Given the description of an element on the screen output the (x, y) to click on. 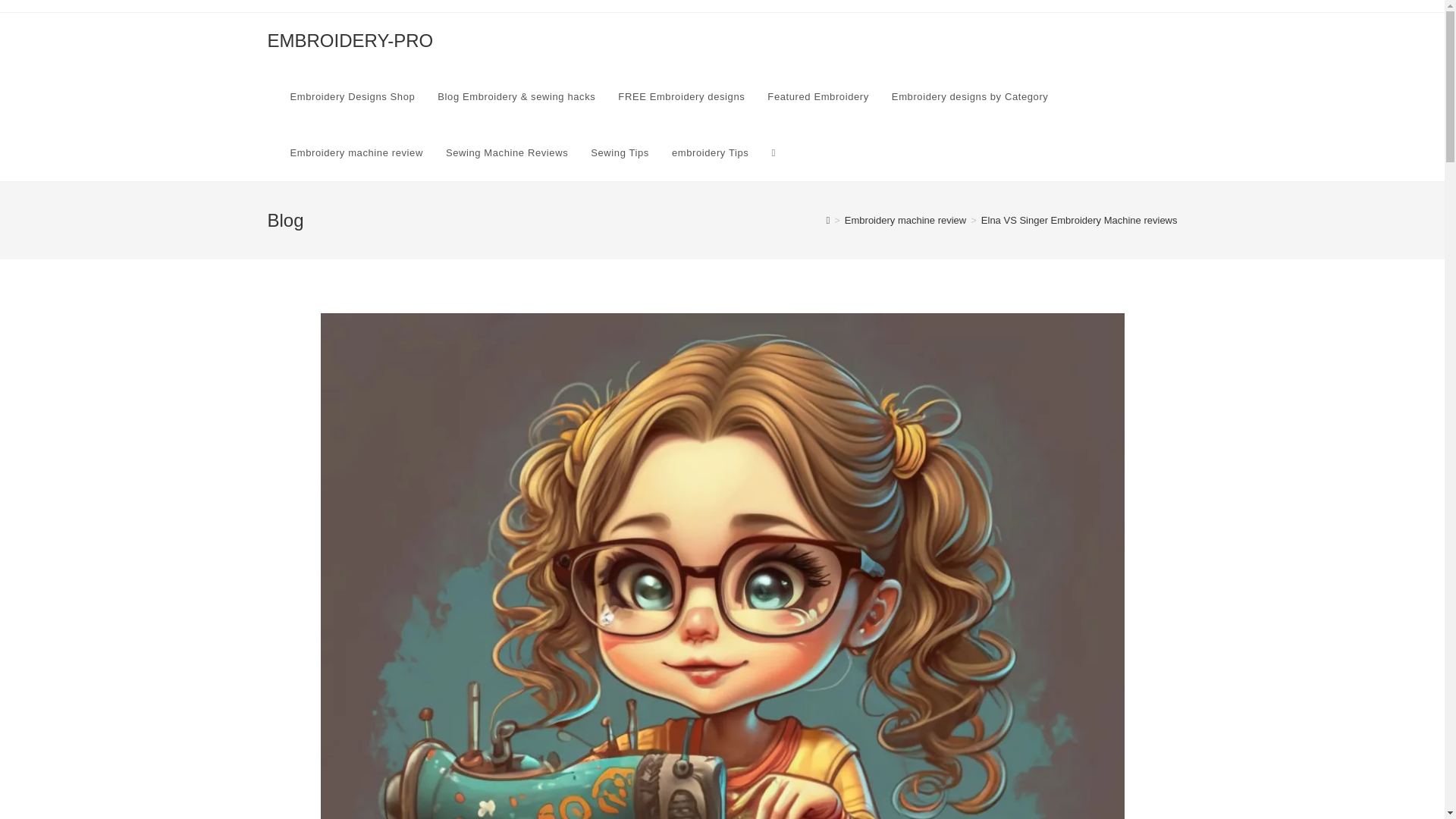
Sewing Tips (620, 152)
Embroidery designs by Category (969, 96)
embroidery Tips (710, 152)
Sewing Machine Reviews (506, 152)
Embroidery machine review (905, 220)
Featured Embroidery (817, 96)
Embroidery machine review (356, 152)
Elna VS Singer Embroidery Machine reviews (1079, 220)
EMBROIDERY-PRO (349, 40)
